Given the description of an element on the screen output the (x, y) to click on. 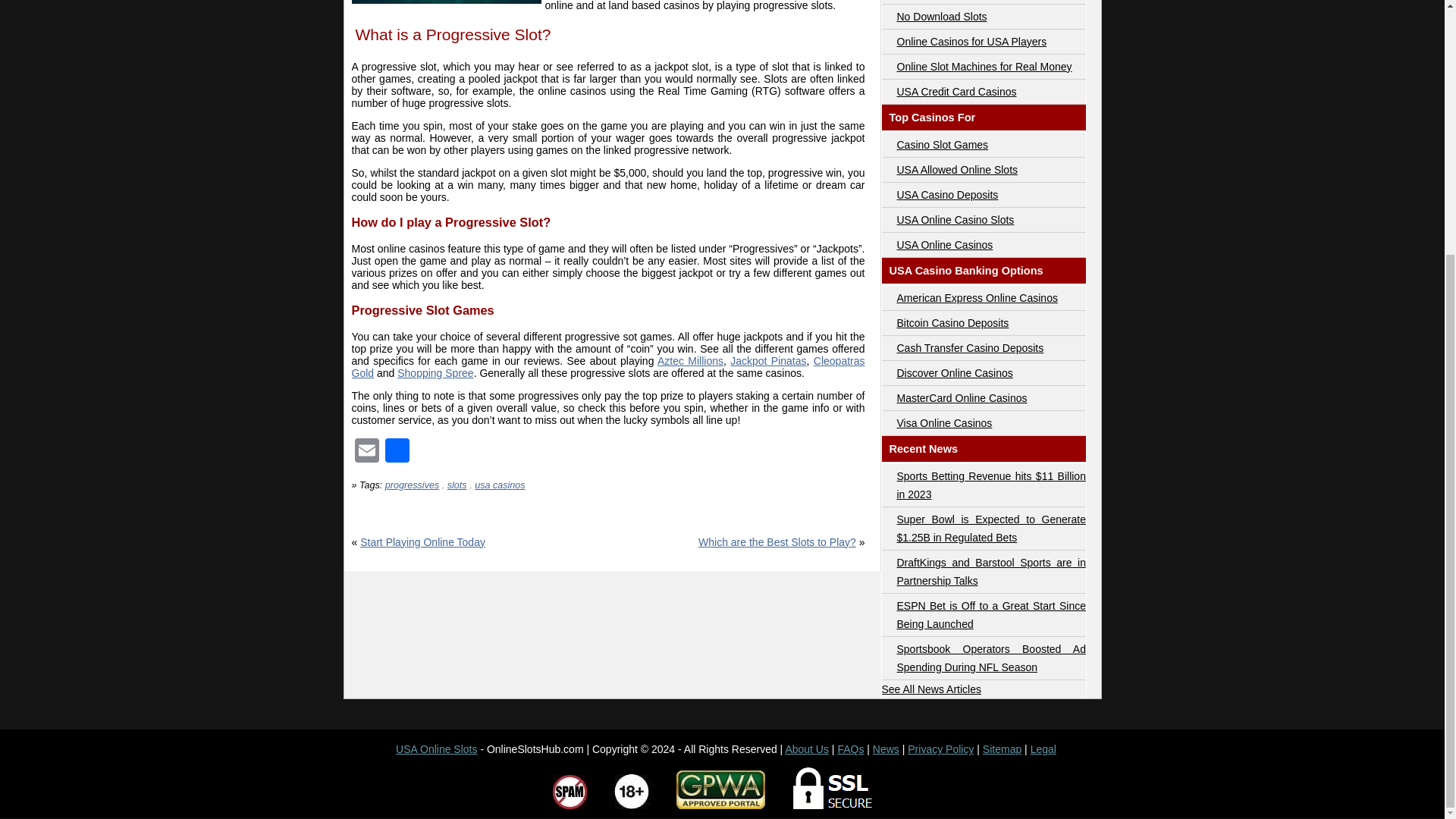
usa casinos (499, 484)
Which are the Best Slots to Play? (777, 541)
USA Casino Deposits (946, 194)
USA Online Casino Slots (954, 219)
Online Casinos for USA Players (971, 41)
No Download Slots (941, 16)
progressives (412, 484)
USA Credit Card Casinos (956, 91)
Jackpot Pinatas (768, 360)
Start Playing Online Today (421, 541)
